Given the description of an element on the screen output the (x, y) to click on. 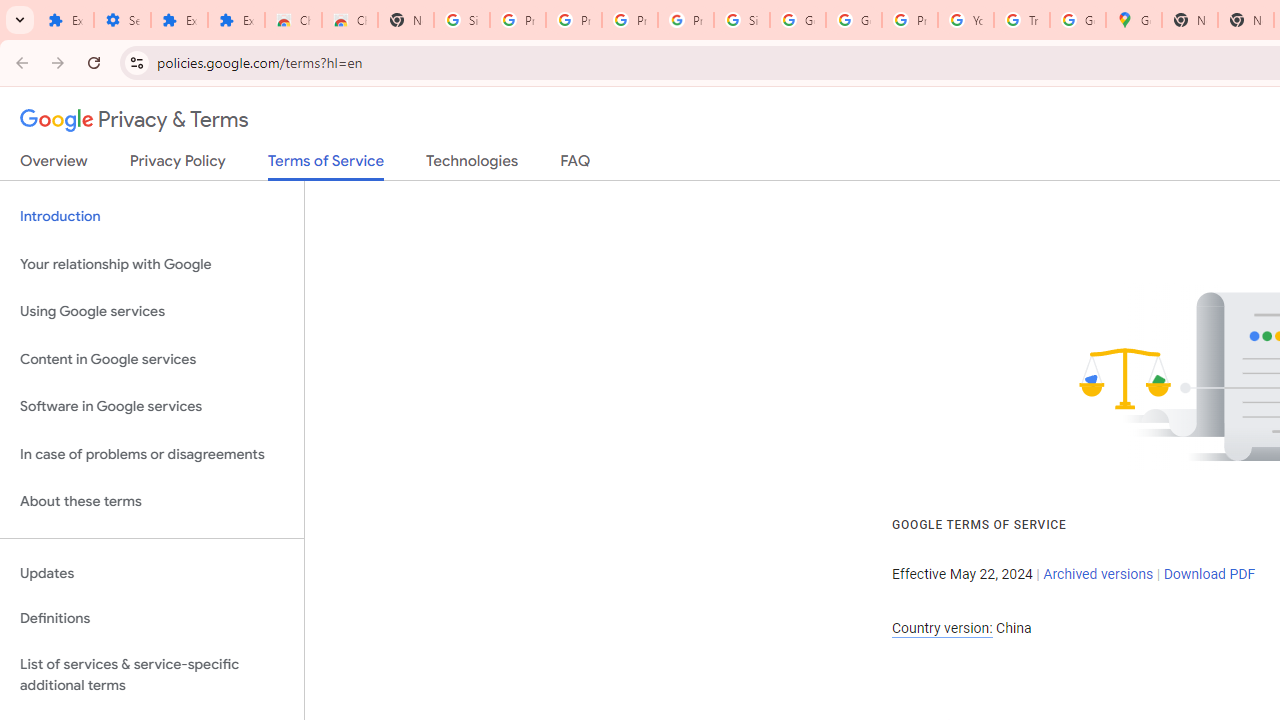
New Tab (405, 20)
Google Maps (1133, 20)
Archived versions (1098, 574)
Sign in - Google Accounts (461, 20)
Sign in - Google Accounts (742, 20)
Chrome Web Store (293, 20)
Your relationship with Google (152, 263)
Extensions (235, 20)
Using Google services (152, 312)
Extensions (179, 20)
